Given the description of an element on the screen output the (x, y) to click on. 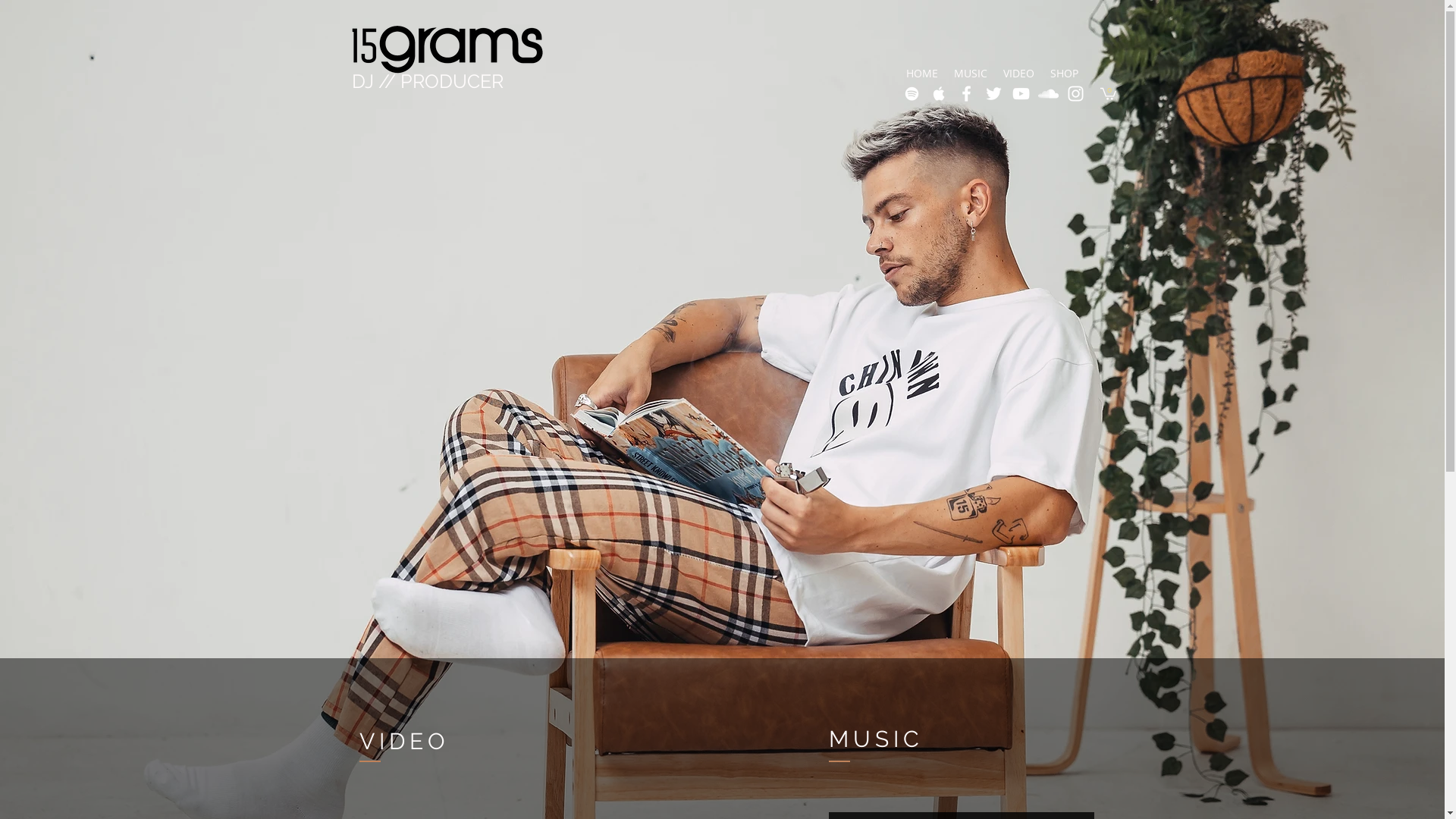
HOME Element type: text (920, 72)
DJ // PRODUCER Element type: text (427, 80)
MUSIC Element type: text (970, 72)
VIDEO Element type: text (1017, 72)
0 Element type: text (1107, 93)
SHOP Element type: text (1063, 72)
